Given the description of an element on the screen output the (x, y) to click on. 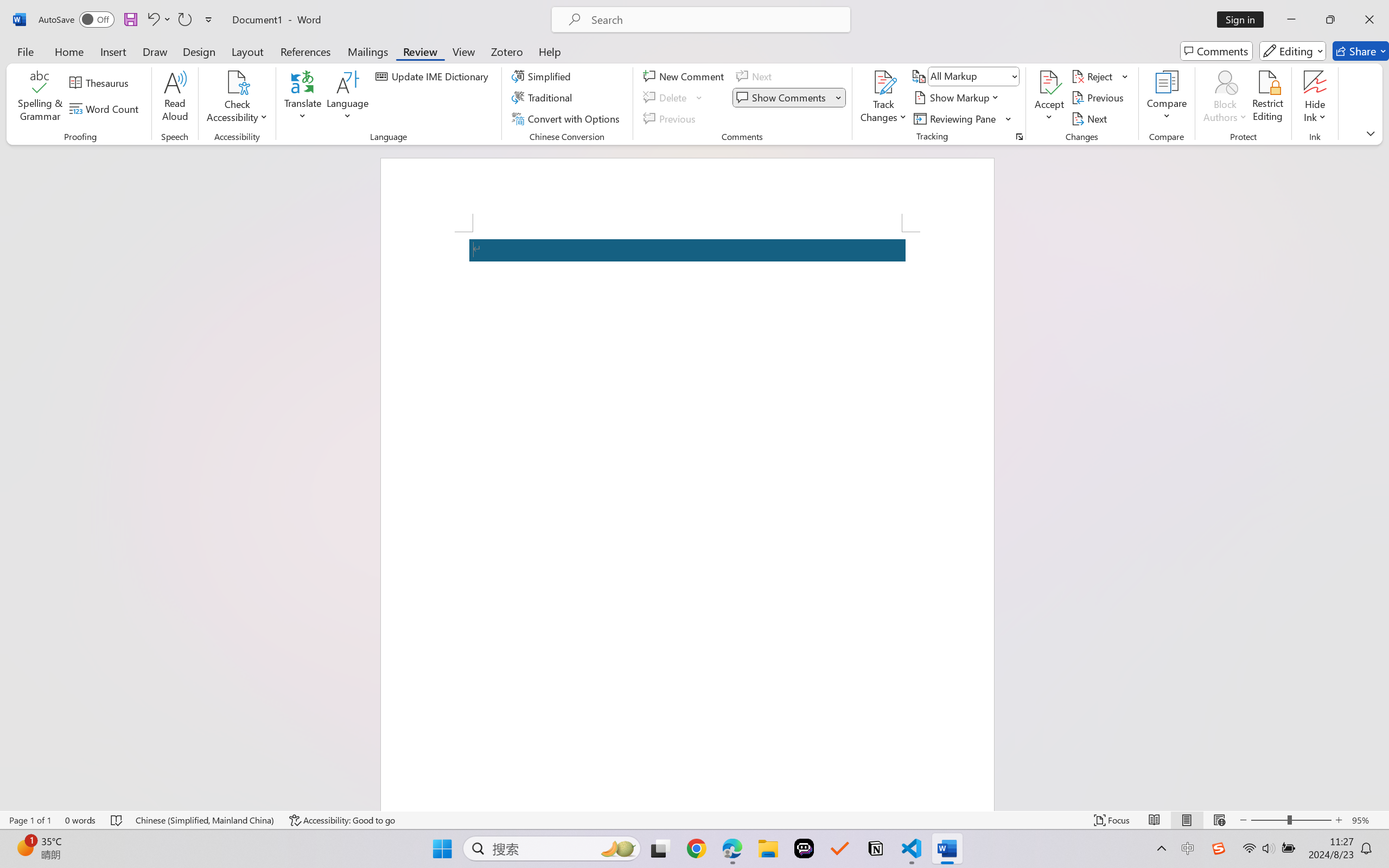
Reject and Move to Next (1093, 75)
Translate (303, 97)
Thesaurus... (101, 82)
Hide Ink (1315, 81)
Block Authors (1224, 81)
Simplified (542, 75)
Accept (1049, 97)
